Given the description of an element on the screen output the (x, y) to click on. 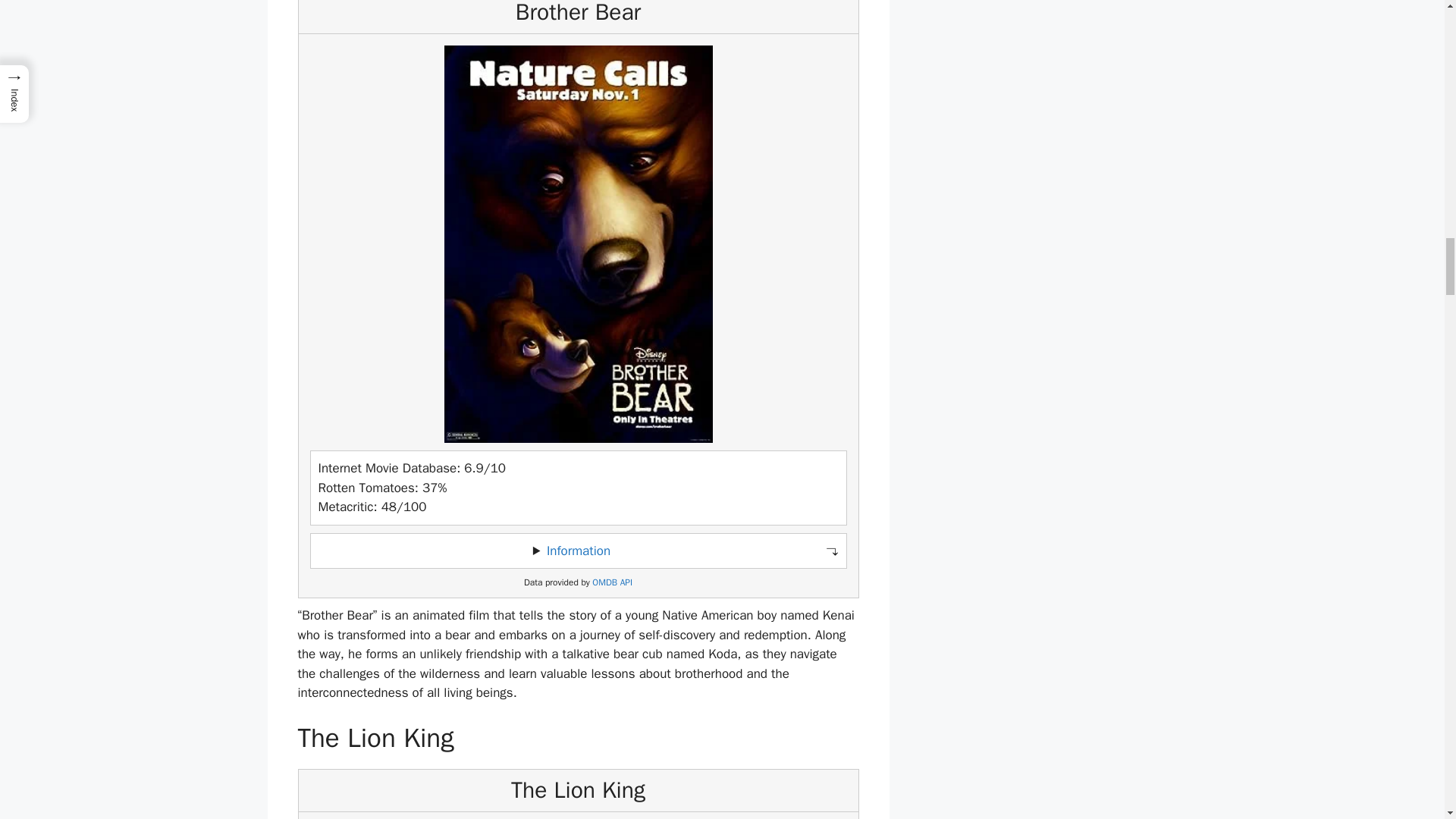
Toggle information (578, 550)
OMDB API (611, 582)
Open Movie Database API (611, 582)
Information (578, 550)
